Given the description of an element on the screen output the (x, y) to click on. 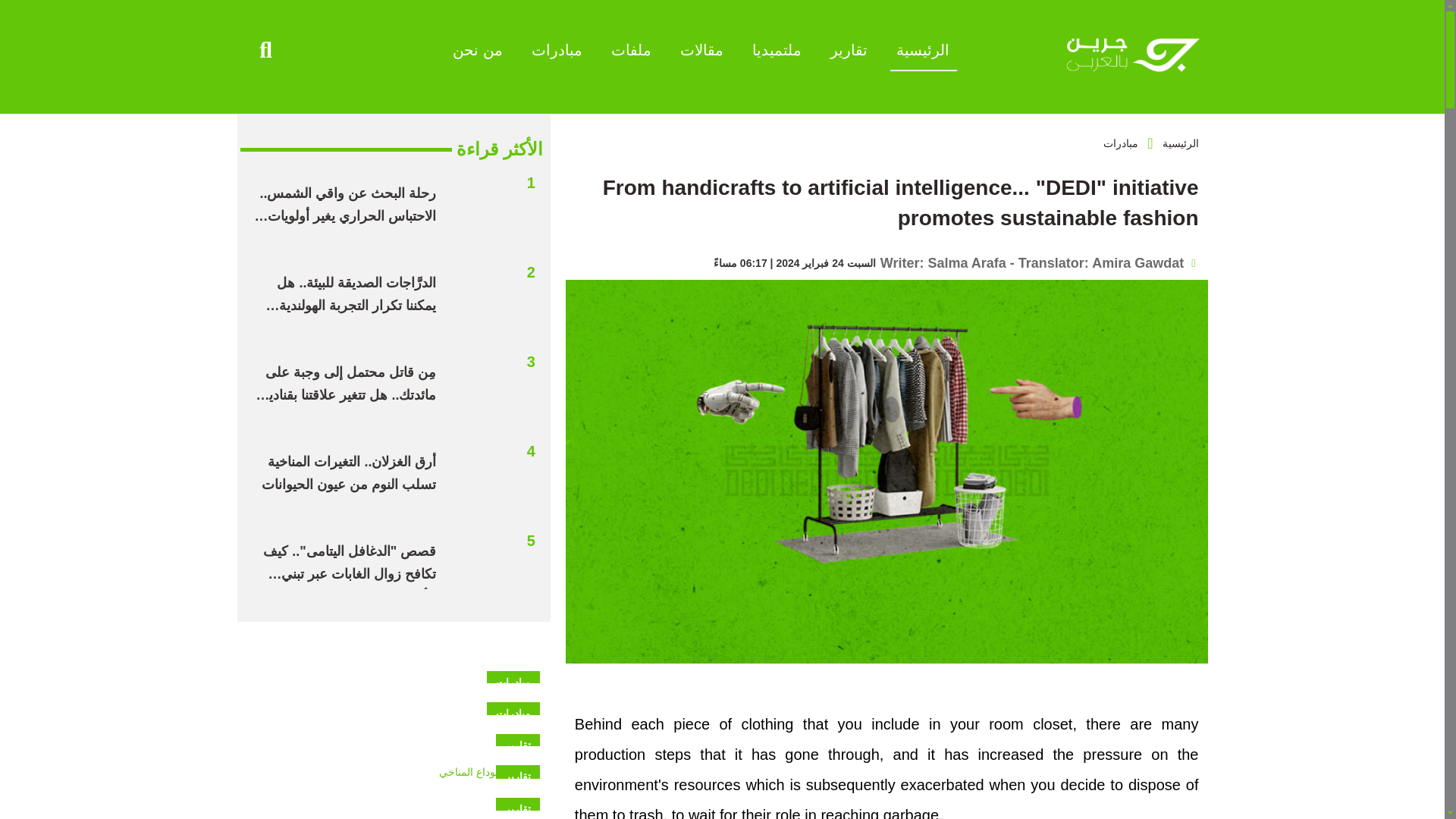
Writer: Salma Arafa - Translator: Amira Gawdat (1037, 263)
